Given the description of an element on the screen output the (x, y) to click on. 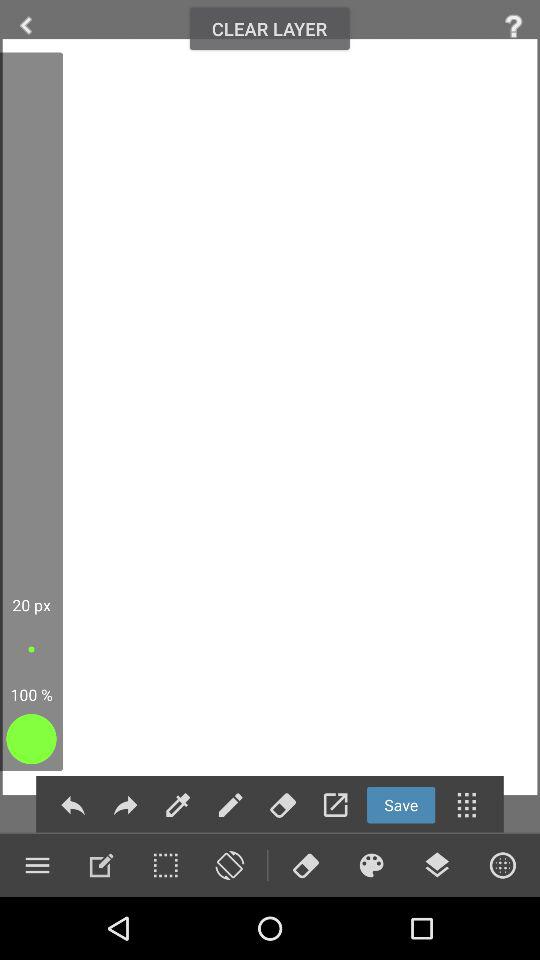
question of the option (513, 26)
